Given the description of an element on the screen output the (x, y) to click on. 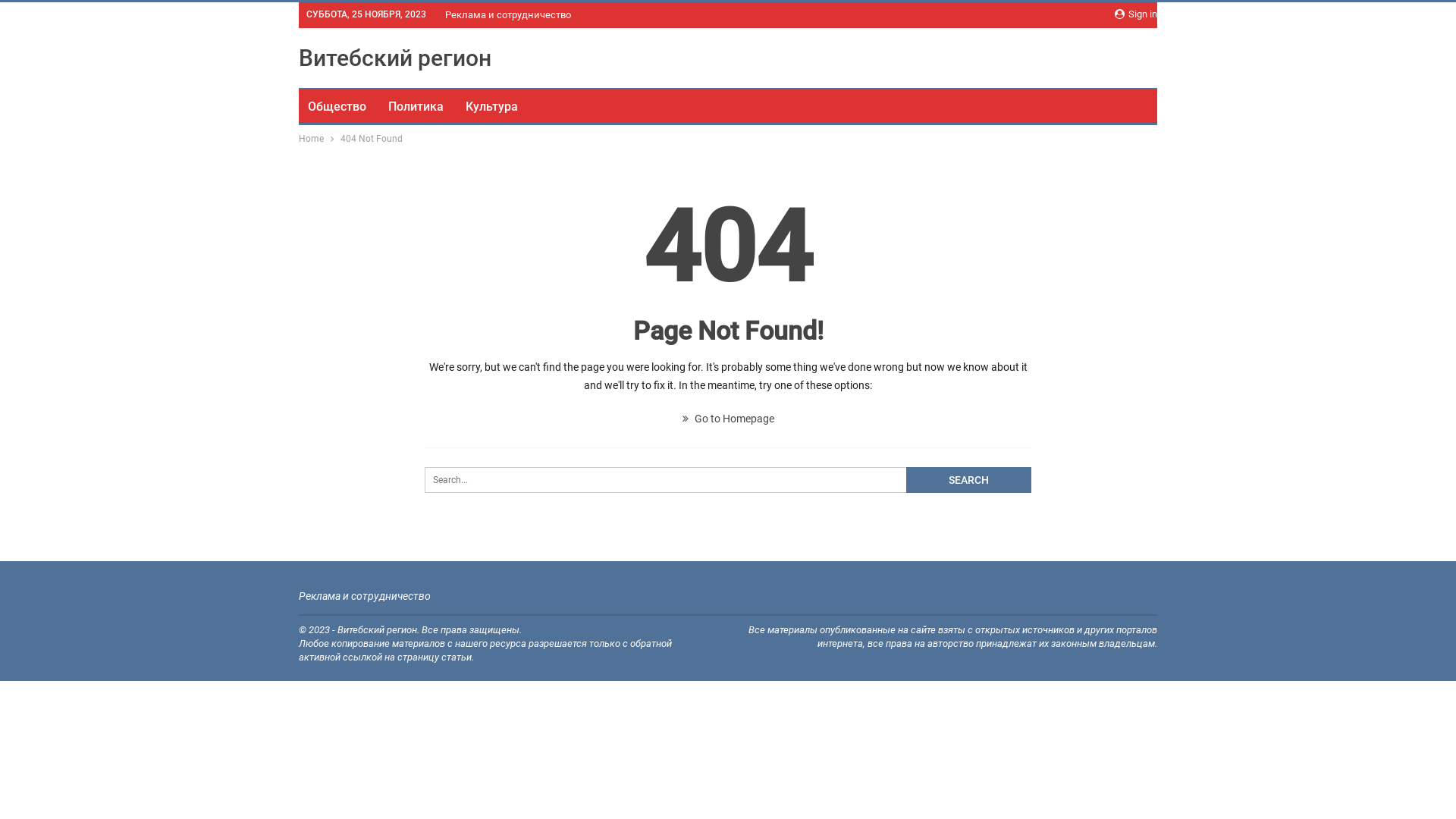
Sign in Element type: text (1135, 14)
Go to Homepage Element type: text (728, 418)
Search for: Element type: hover (727, 479)
Home Element type: text (310, 138)
Search Element type: text (968, 479)
